Given the description of an element on the screen output the (x, y) to click on. 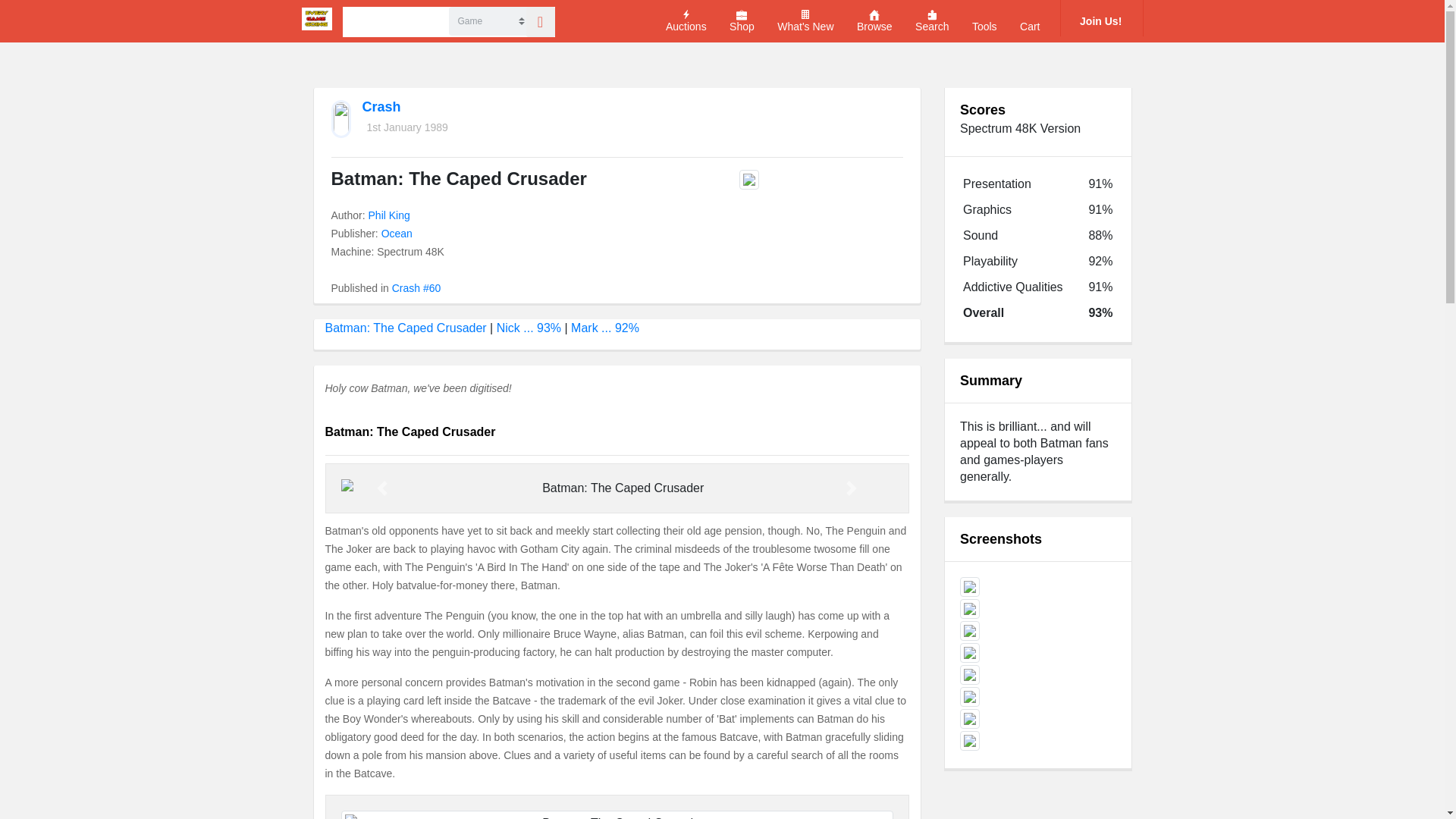
Browse (874, 20)
What's New (804, 20)
Tools (984, 20)
Auctions (685, 20)
Search (932, 20)
Shop (741, 20)
